Given the description of an element on the screen output the (x, y) to click on. 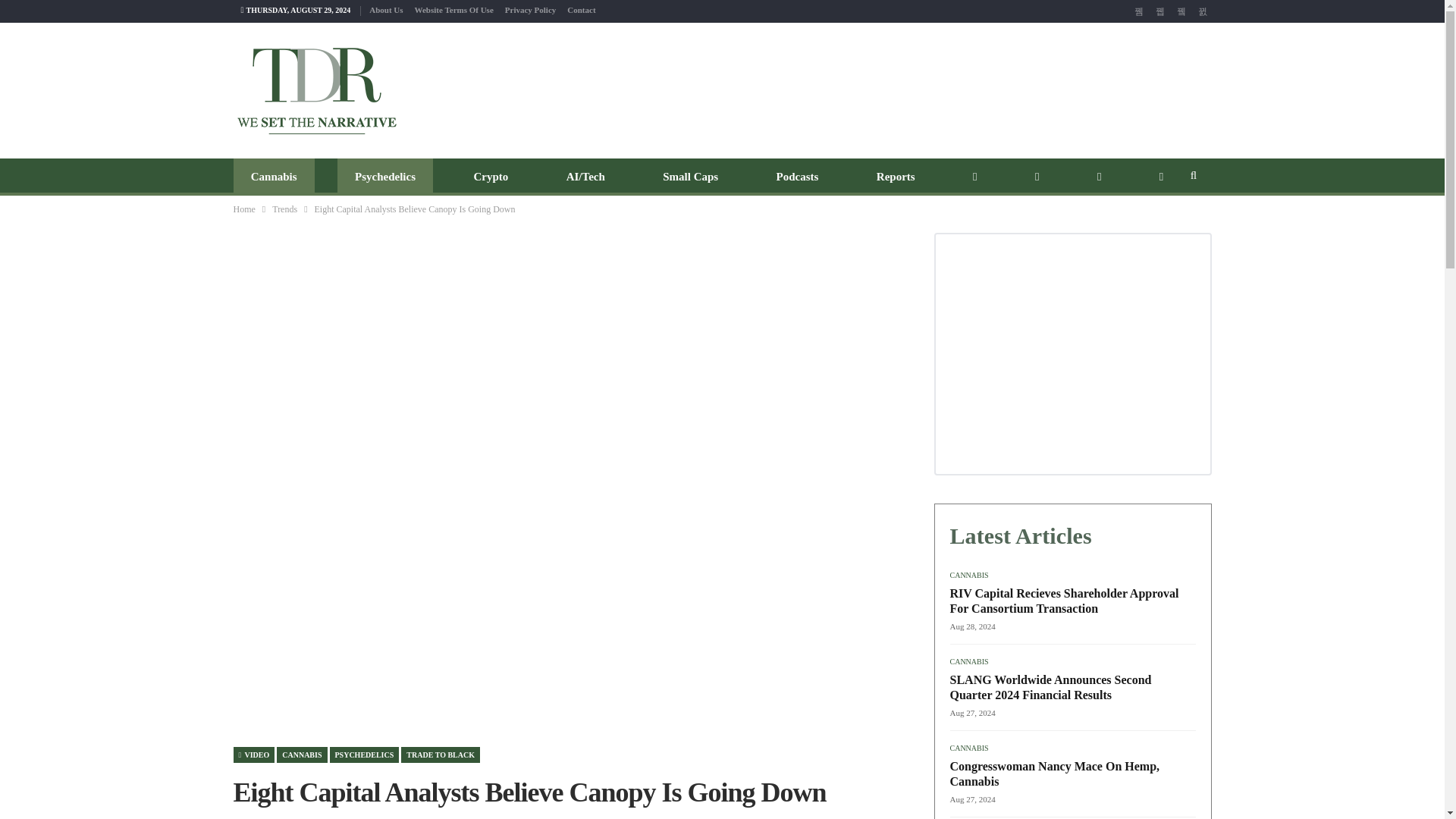
Reports (896, 176)
Psychedelics (384, 176)
Privacy Policy (530, 9)
Podcasts (796, 176)
Home (244, 208)
Website Terms Of Use (453, 9)
TRADE TO BLACK (440, 754)
Cannabis (273, 176)
Contact (581, 9)
Trends (284, 208)
